Given the description of an element on the screen output the (x, y) to click on. 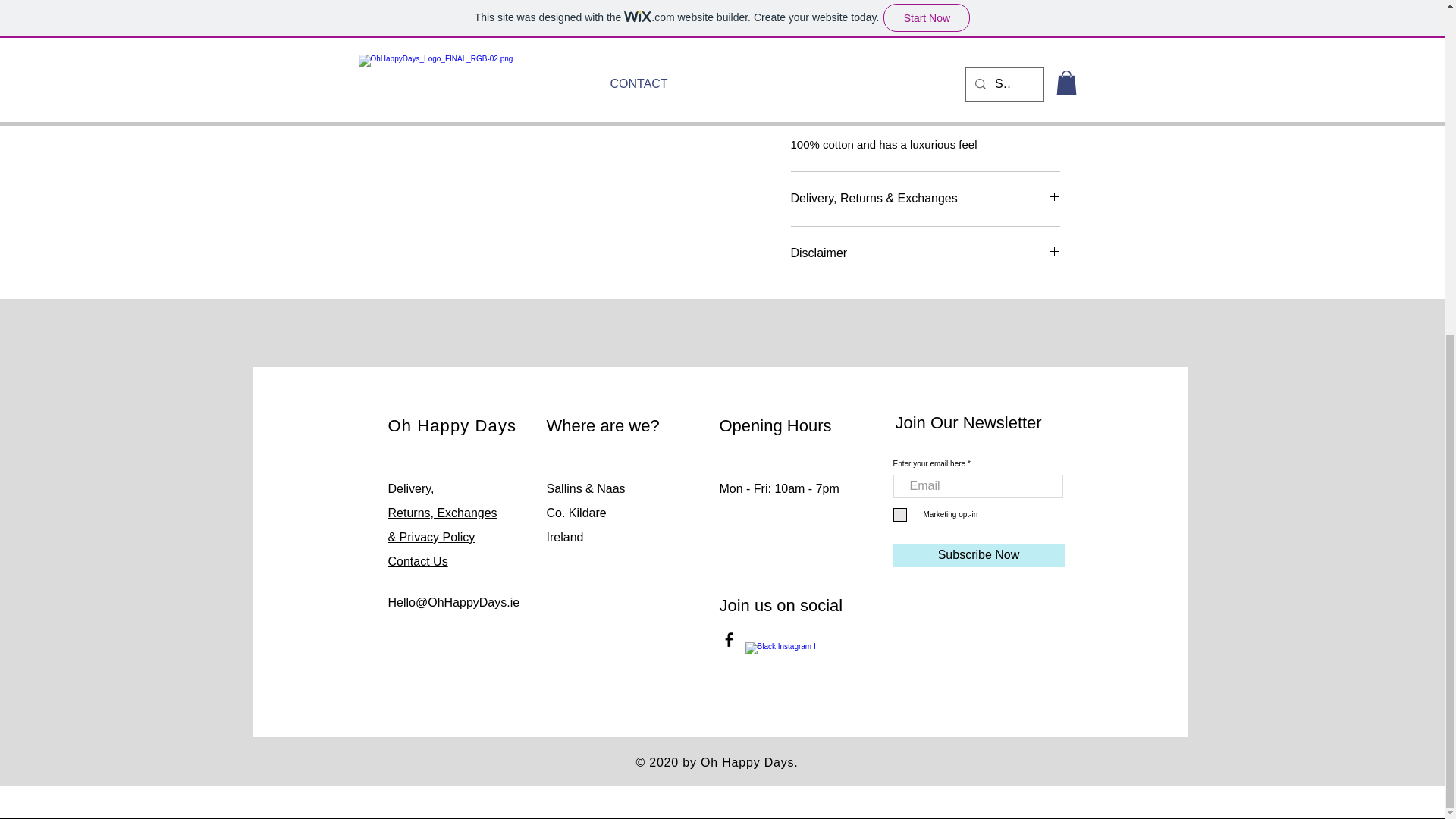
1 (818, 7)
Product Information (924, 114)
Add to Cart (924, 54)
Contact Us (418, 561)
Disclaimer (924, 252)
Subscribe Now (978, 555)
